Given the description of an element on the screen output the (x, y) to click on. 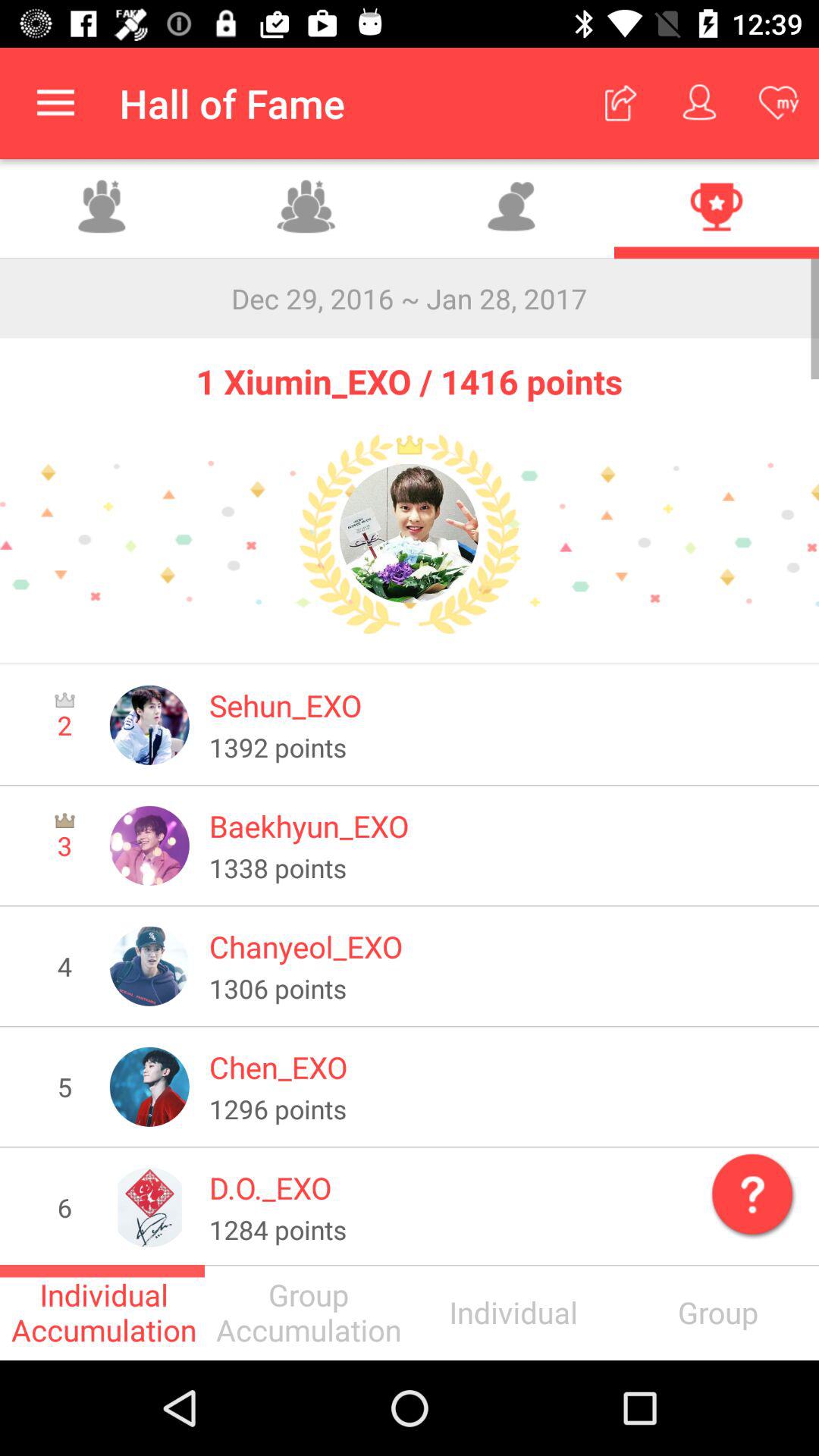
click the baekhyun_exo (504, 825)
